Given the description of an element on the screen output the (x, y) to click on. 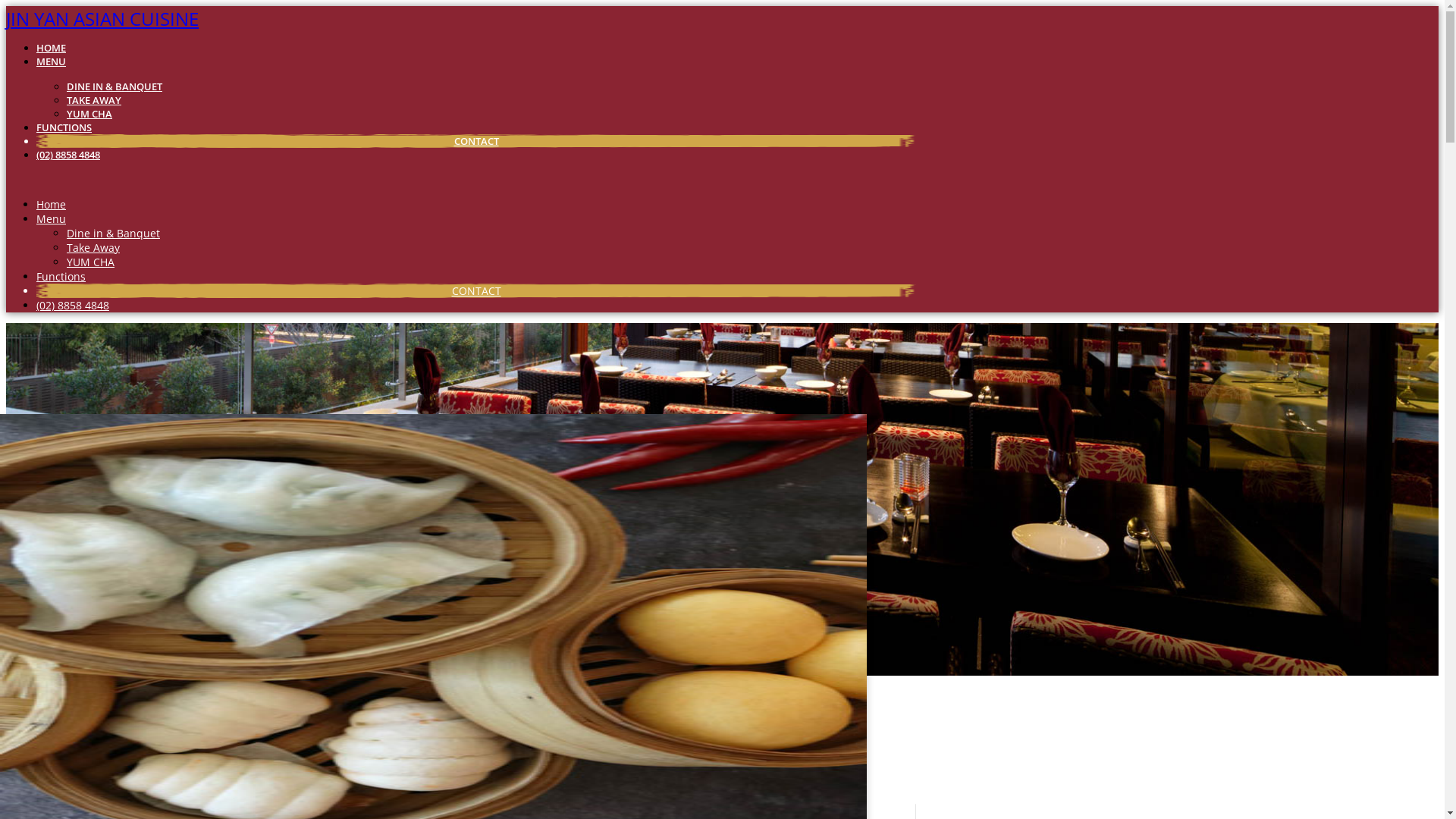
FUNCTIONS Element type: text (63, 127)
CONTACT Element type: text (475, 140)
DINE IN & BANQUET Element type: text (114, 86)
HOME Element type: text (50, 47)
YUM CHA Element type: text (89, 113)
CONTACT Element type: text (476, 290)
(02) 8858 4848 Element type: text (72, 305)
YUM CHA Element type: text (90, 261)
MENU Element type: text (50, 61)
(02) 8858 4848 Element type: text (68, 154)
Home Element type: text (50, 204)
Take Away Element type: text (92, 247)
Menu Element type: text (50, 218)
TAKE AWAY Element type: text (93, 99)
JIN YAN ASIAN CUISINE Element type: text (102, 18)
Dine in & Banquet Element type: text (113, 232)
Functions Element type: text (60, 276)
